Given the description of an element on the screen output the (x, y) to click on. 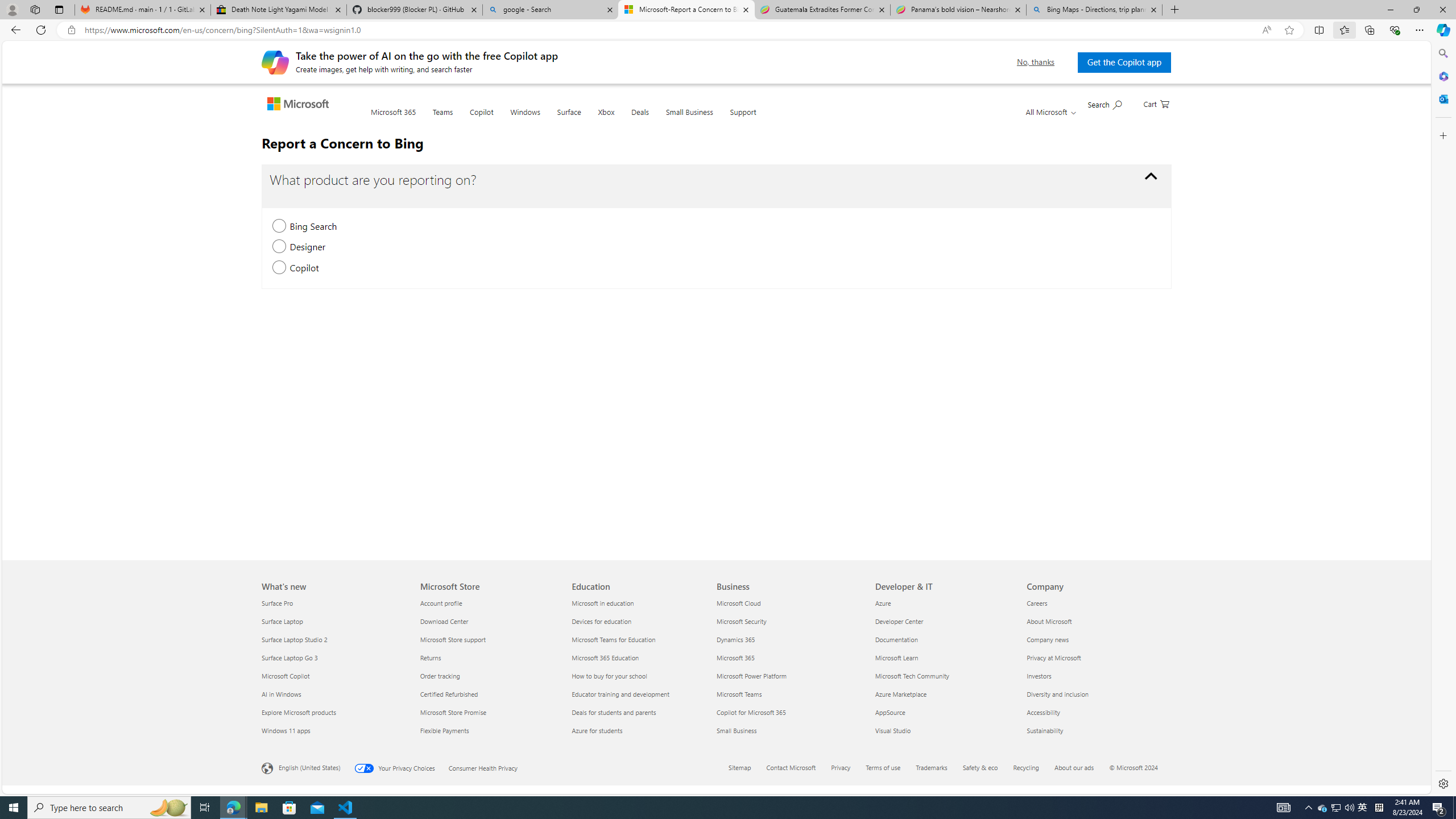
Developer Center Developer & IT (899, 620)
Dynamics 365 Business (735, 638)
Company news Company (1047, 638)
Surface (568, 118)
Customize (1442, 135)
Azure Marketplace (944, 693)
Microsoft Teams Business (738, 693)
Workspaces (34, 9)
Microsoft Power Platform (788, 675)
Investors Company (1038, 675)
0 items in shopping cart (1155, 103)
Microsoft in education Education (603, 602)
Azure (944, 602)
Account profile (489, 602)
